Given the description of an element on the screen output the (x, y) to click on. 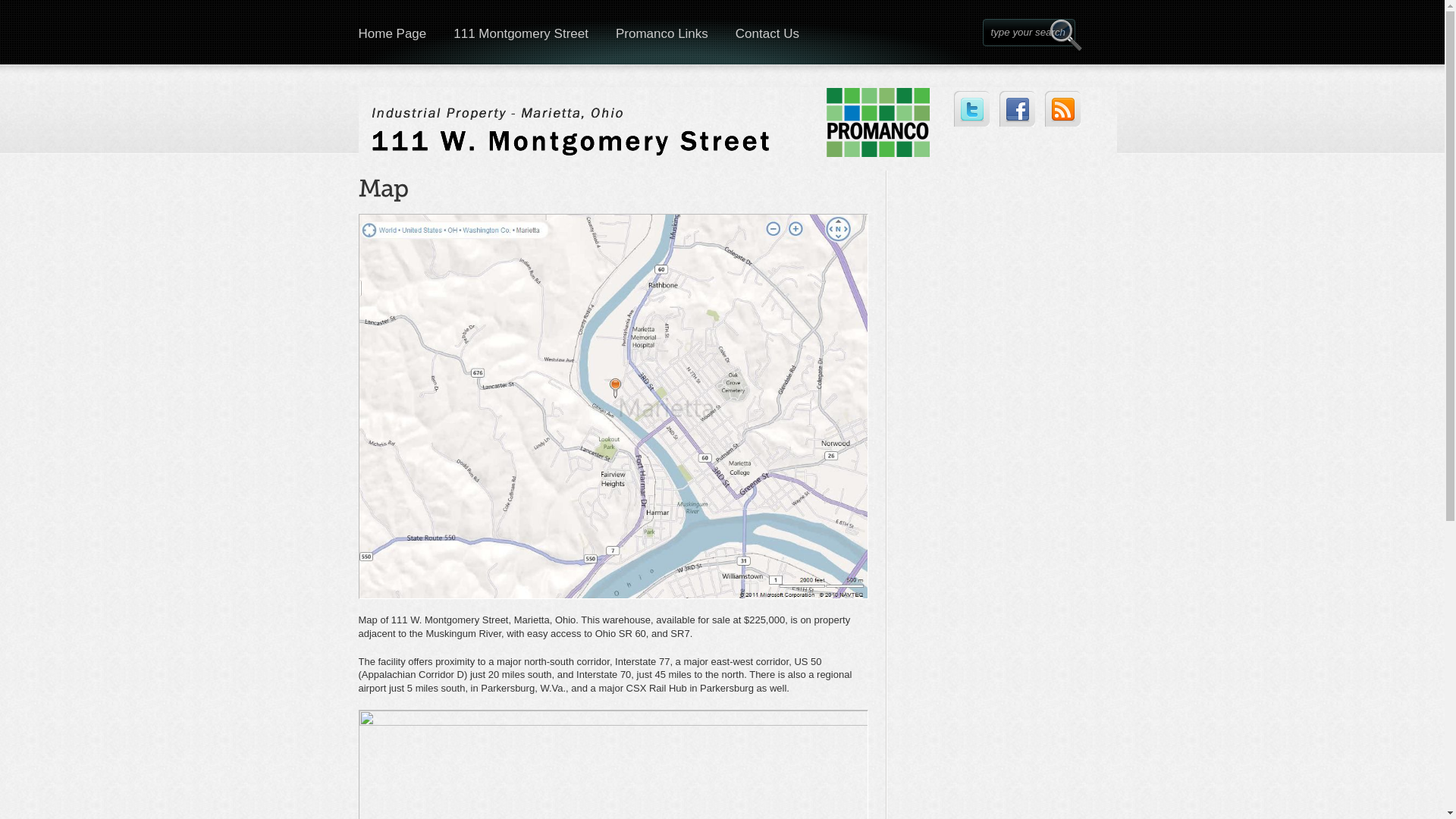
Join Us on Facebook! Element type: hover (1017, 108)
111 Montgomery Street Element type: text (520, 32)
Follow Us on Twitter! Element type: hover (971, 108)
Home Page Element type: text (391, 32)
Promanco Links Element type: text (661, 32)
Contact Us Element type: text (766, 32)
RSS Element type: hover (1062, 108)
111-w-montgomery-st-warehouse-local-map Element type: hover (612, 406)
